Given the description of an element on the screen output the (x, y) to click on. 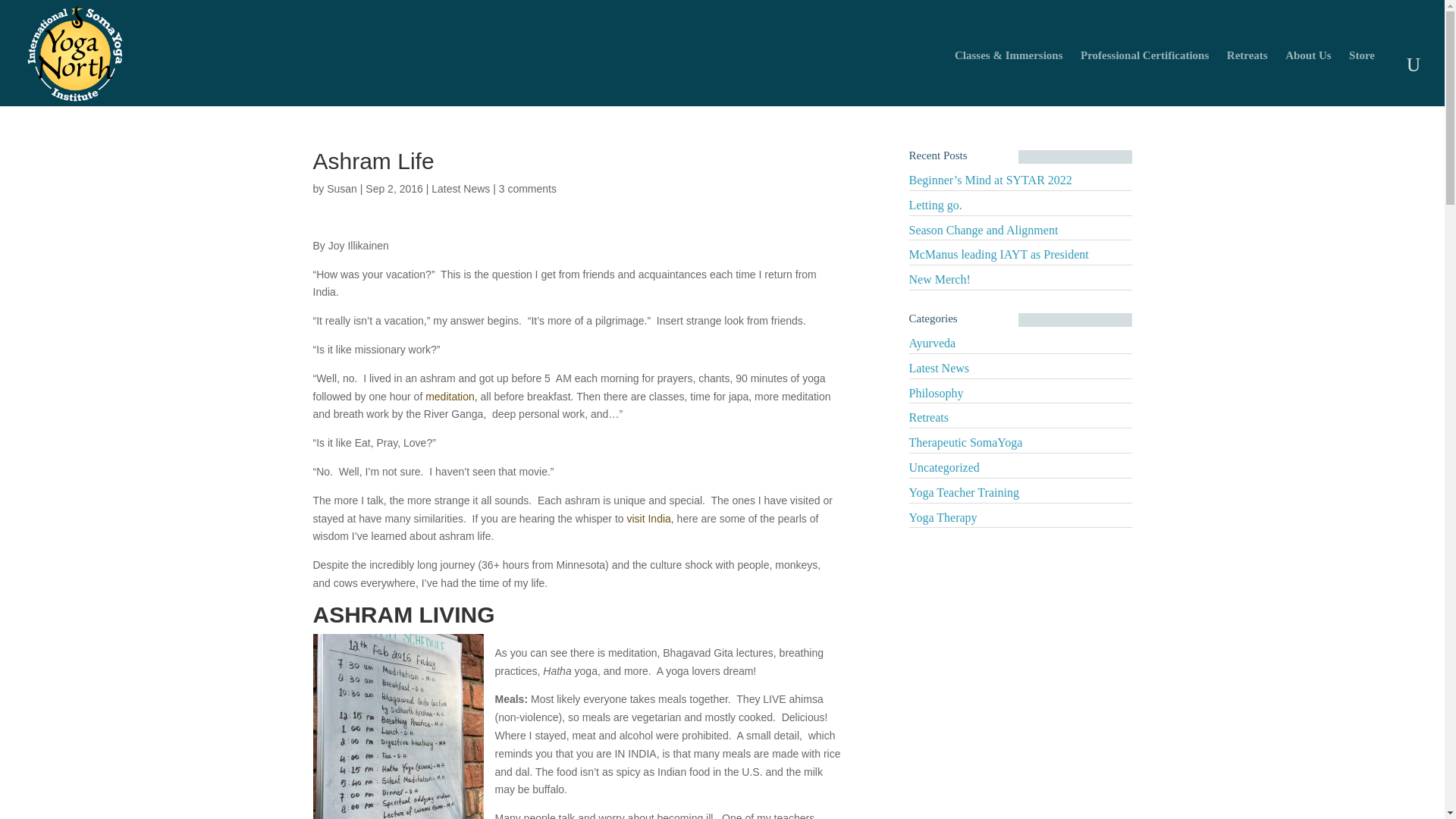
Retreats (1254, 62)
Store (1369, 62)
Professional Certifications (1152, 62)
Posts by Susan (341, 188)
About Us (1315, 62)
